Given the description of an element on the screen output the (x, y) to click on. 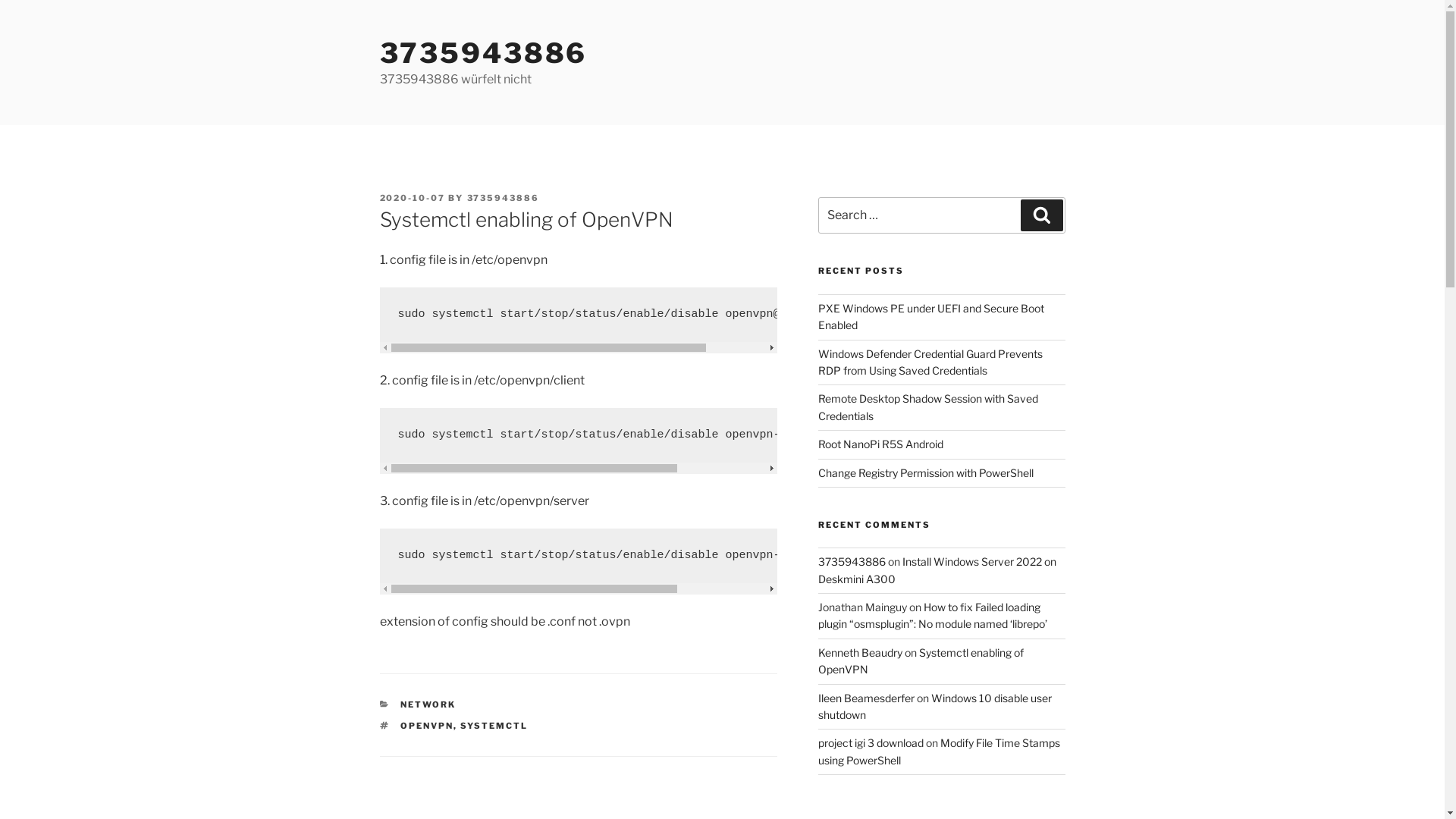
Install Windows Server 2022 on Deskmini A300 Element type: text (937, 569)
Windows 10 disable user shutdown Element type: text (934, 706)
Ileen Beamesderfer Element type: text (866, 697)
2020-10-07 Element type: text (412, 197)
Modify File Time Stamps using PowerShell Element type: text (939, 750)
Systemctl enabling of OpenVPN Element type: text (920, 660)
3735943886 Element type: text (503, 197)
3735943886 Element type: text (851, 561)
Kenneth Beaudry Element type: text (860, 652)
3735943886 Element type: text (482, 52)
NETWORK Element type: text (427, 704)
Remote Desktop Shadow Session with Saved Credentials Element type: text (928, 406)
PXE Windows PE under UEFI and Secure Boot Enabled Element type: text (931, 316)
project igi 3 download Element type: text (870, 742)
Change Registry Permission with PowerShell Element type: text (925, 471)
Root NanoPi R5S Android Element type: text (880, 443)
SYSTEMCTL Element type: text (493, 725)
OPENVPN Element type: text (426, 725)
Search Element type: text (1041, 215)
